Given the description of an element on the screen output the (x, y) to click on. 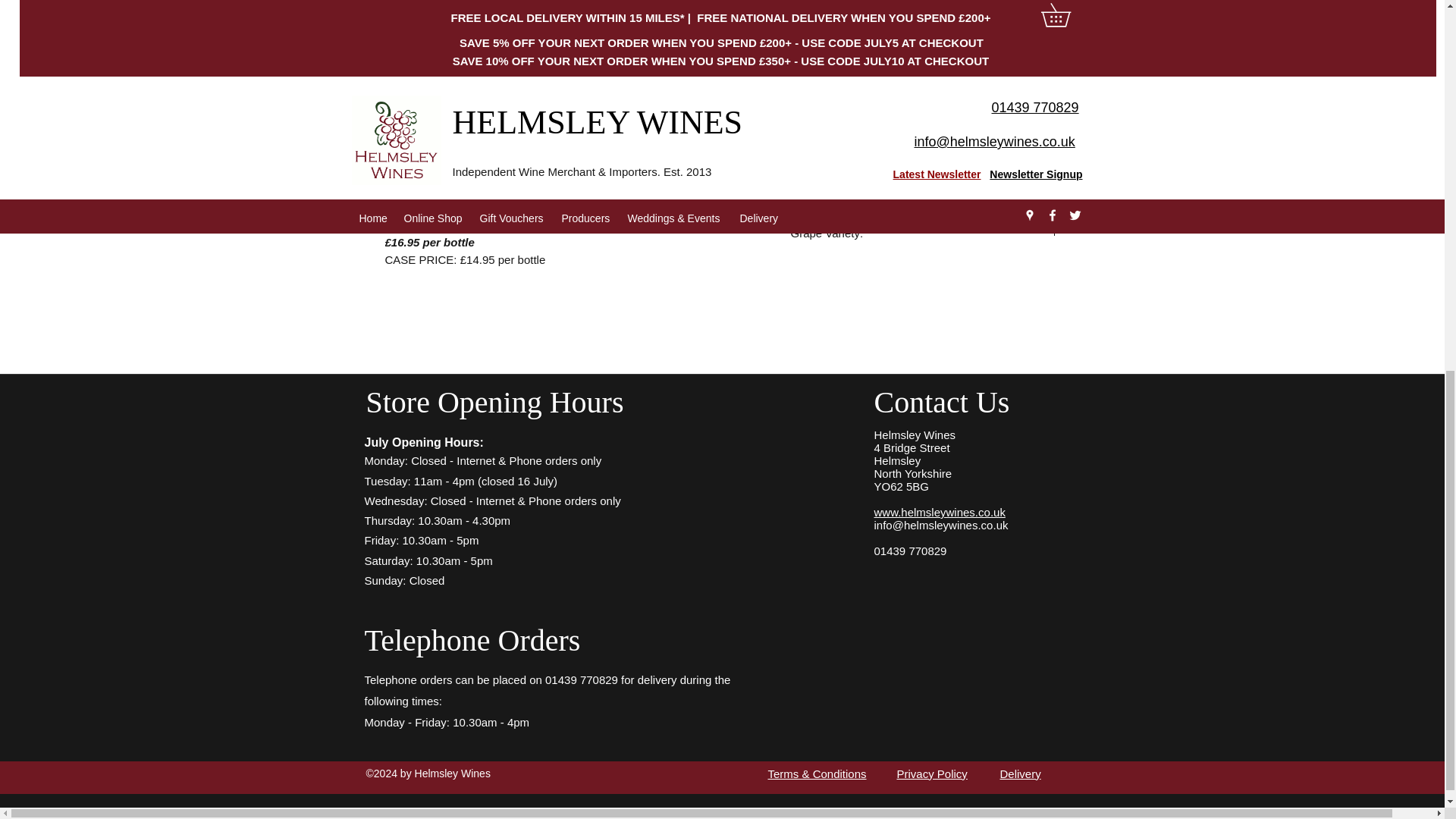
www.helmsleywines.co.uk (938, 512)
Delivery (1019, 773)
Tech Spec: (924, 57)
Grape Variety: (924, 233)
Privacy Policy (931, 773)
Vintage: (924, 174)
